Given the description of an element on the screen output the (x, y) to click on. 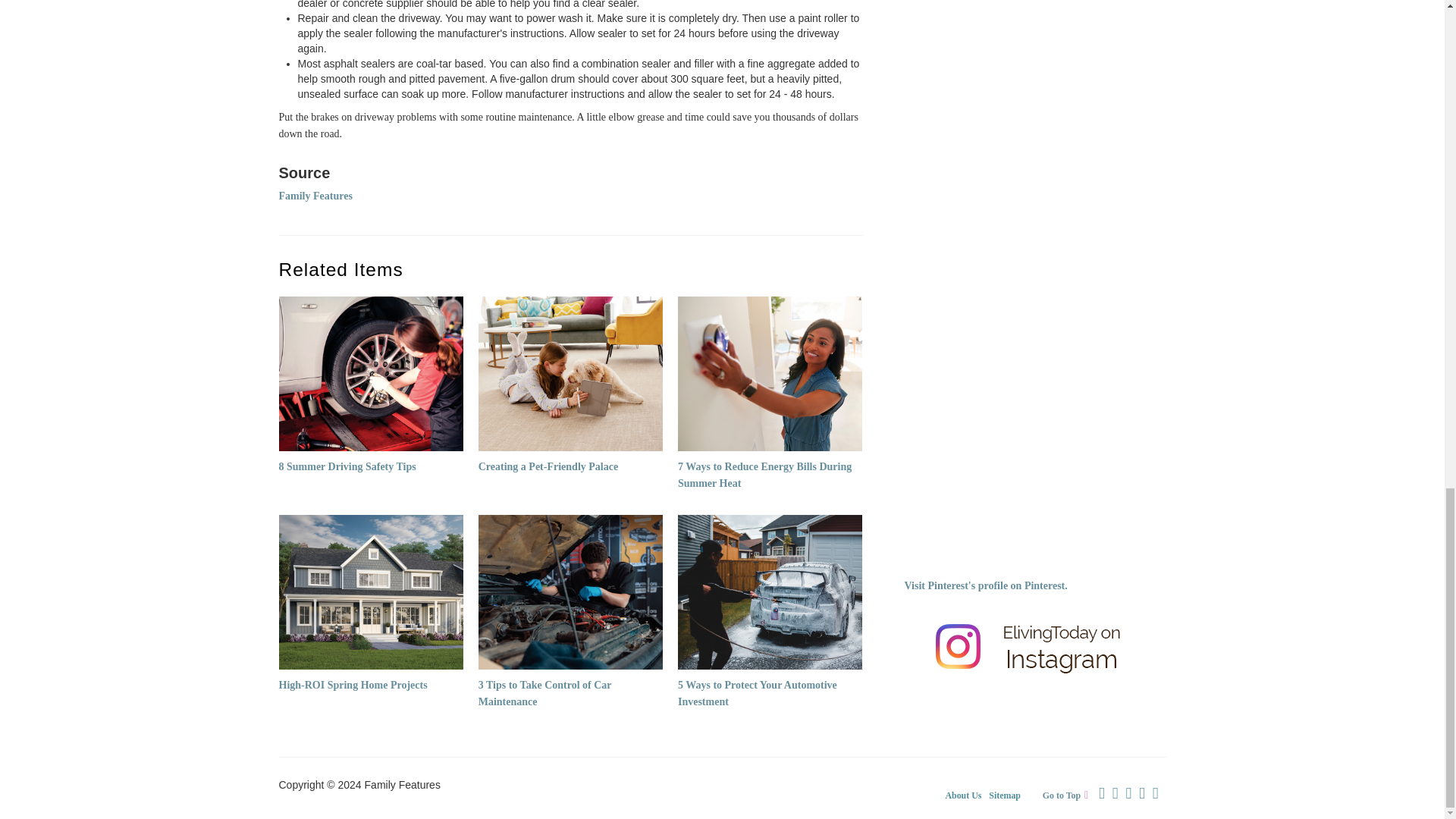
Advertisement (1017, 60)
Go to Top (1069, 795)
Advertisement (1025, 447)
